Given the description of an element on the screen output the (x, y) to click on. 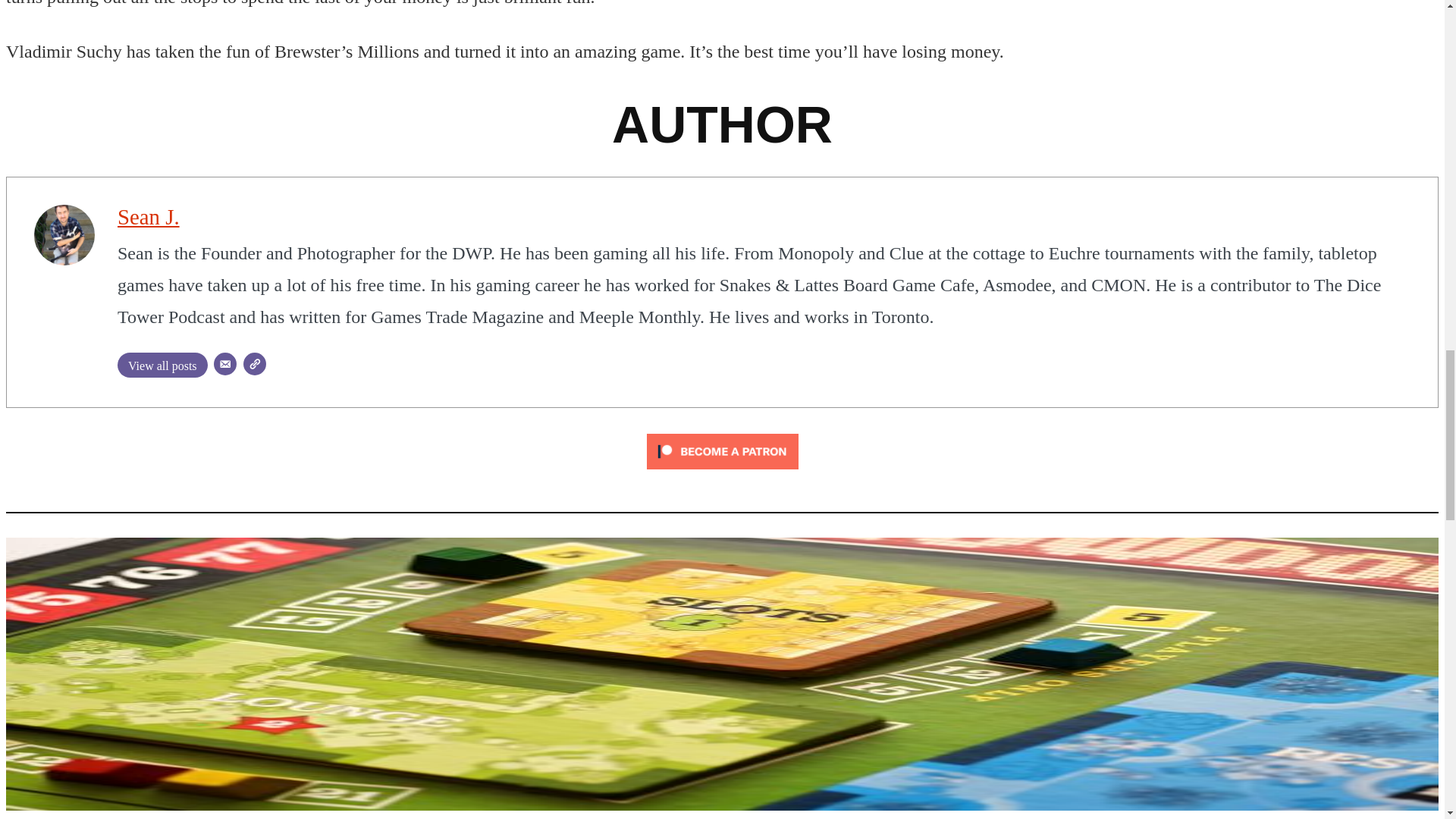
Sean J. (148, 216)
View all posts (162, 364)
View all posts (162, 364)
Sean J. (148, 216)
